Given the description of an element on the screen output the (x, y) to click on. 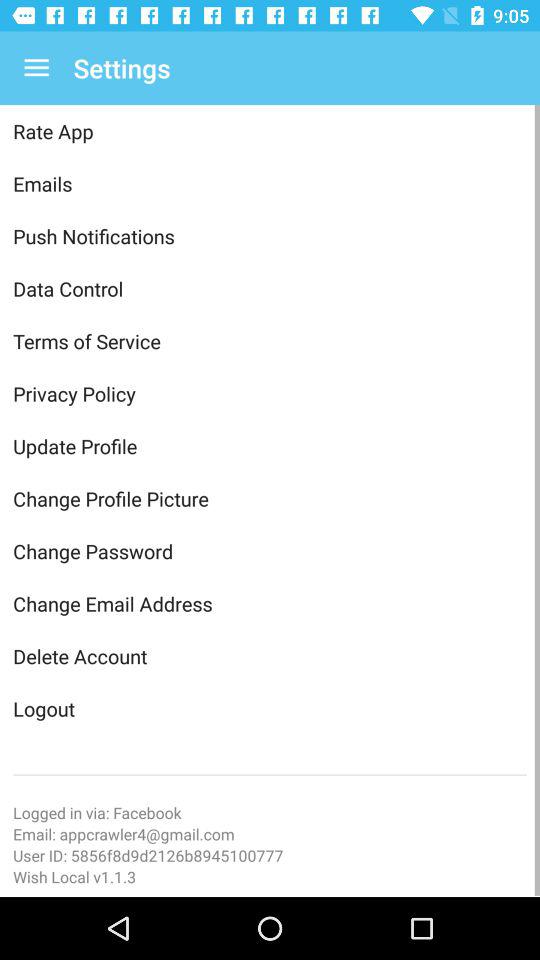
turn off the item below the email appcrawler4 gmail (269, 855)
